Given the description of an element on the screen output the (x, y) to click on. 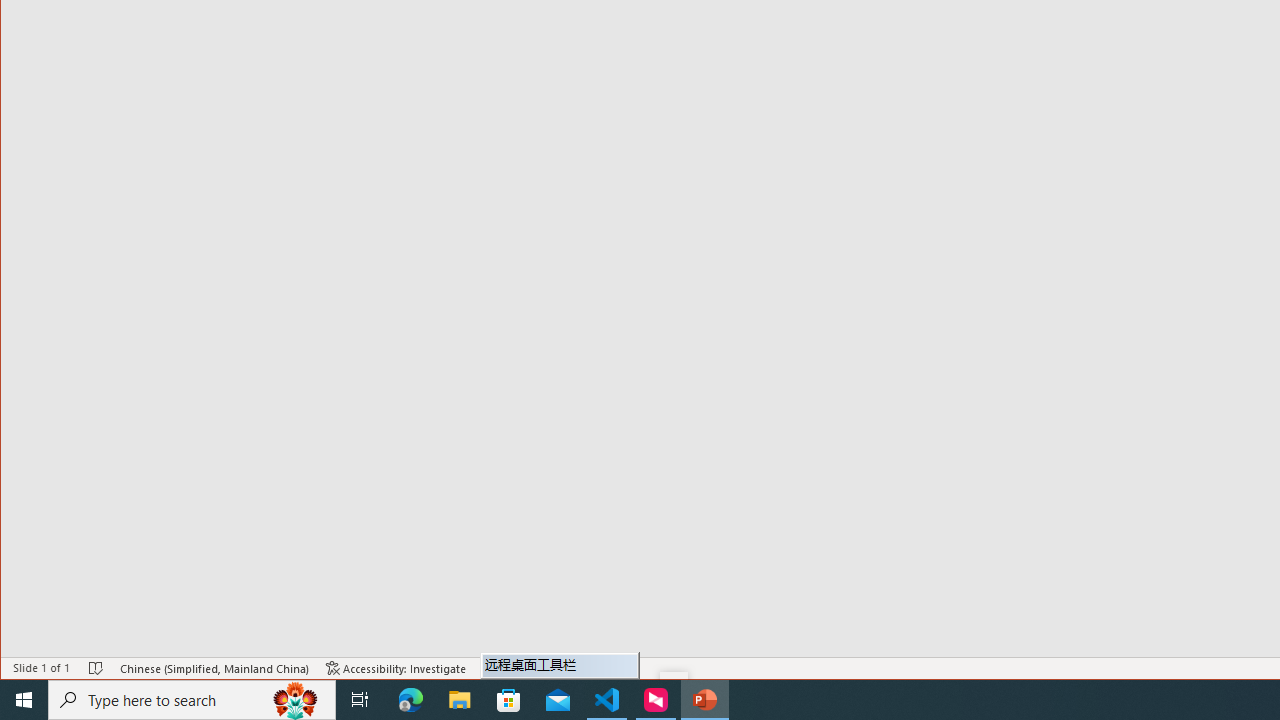
Search highlights icon opens search home window (295, 699)
File Explorer (460, 699)
Accessibility Checker Accessibility: Investigate (395, 668)
Spell Check No Errors (96, 668)
Visual Studio Code - 1 running window (607, 699)
PowerPoint - 1 running window (704, 699)
Type here to search (191, 699)
Microsoft Edge (411, 699)
Microsoft Store (509, 699)
Task View (359, 699)
Start (24, 699)
